Given the description of an element on the screen output the (x, y) to click on. 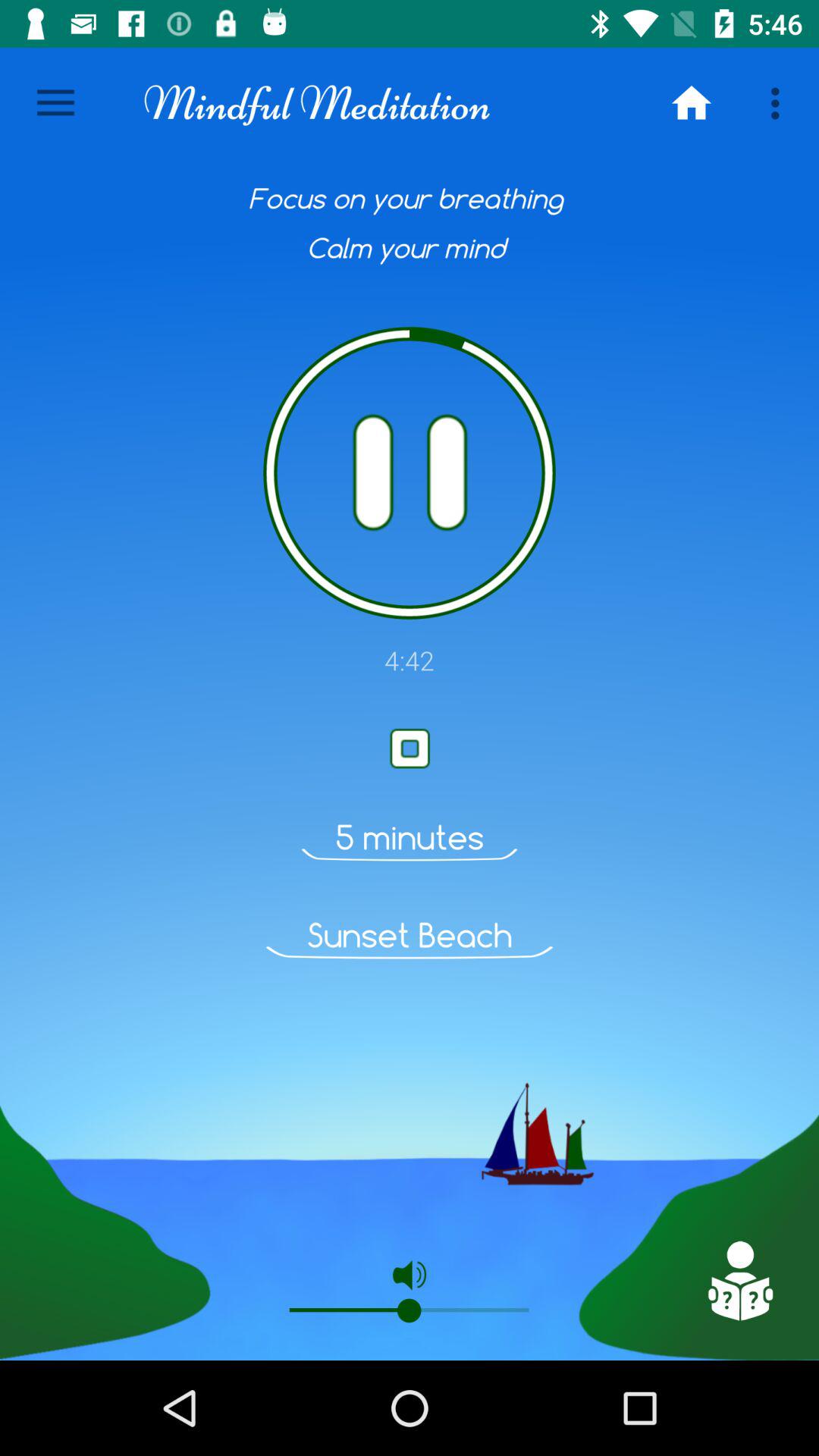
choose item above the   sunset beach (409, 837)
